Given the description of an element on the screen output the (x, y) to click on. 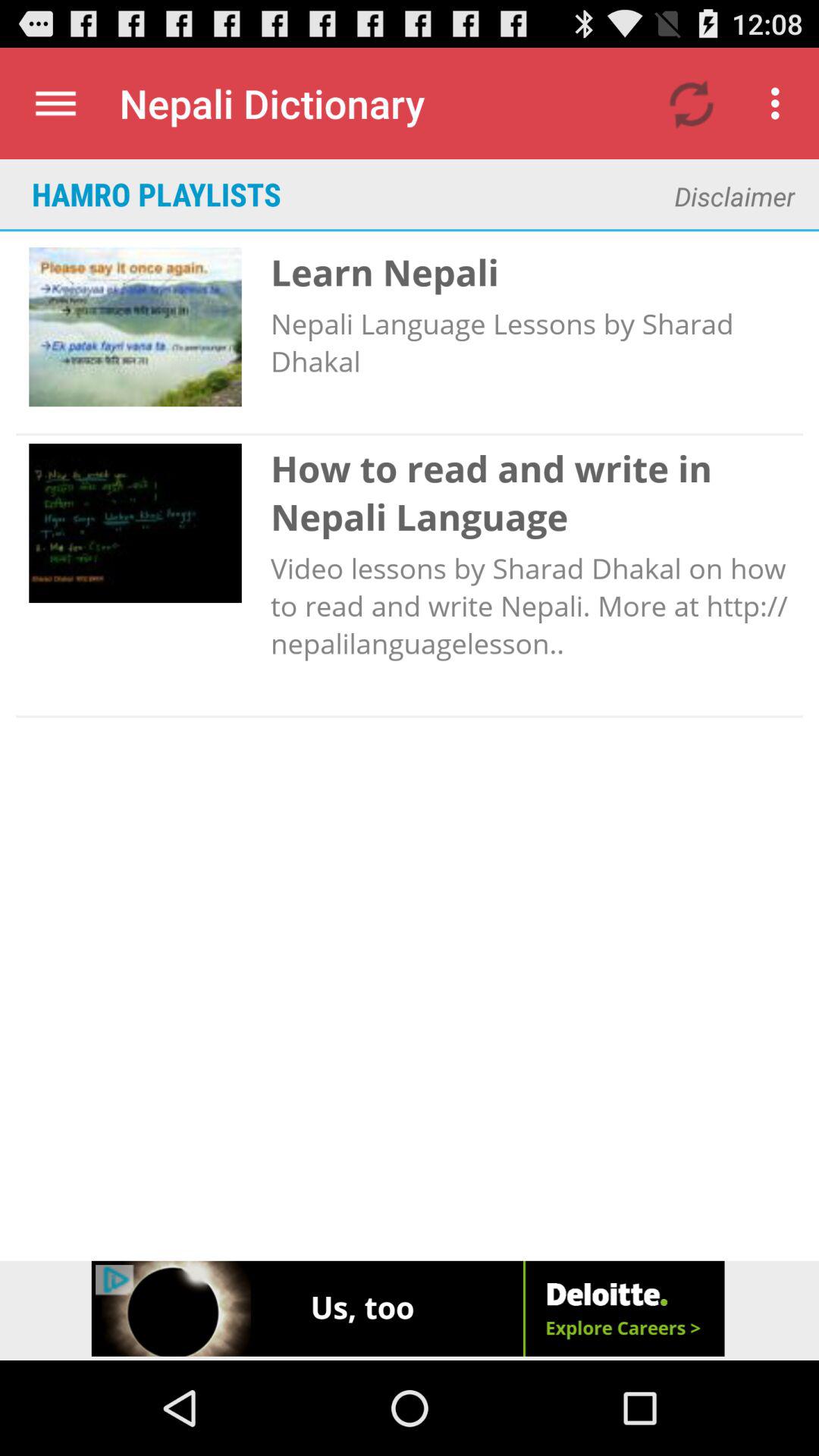
click on second image (134, 523)
click the image below hamro playlists (134, 326)
